Given the description of an element on the screen output the (x, y) to click on. 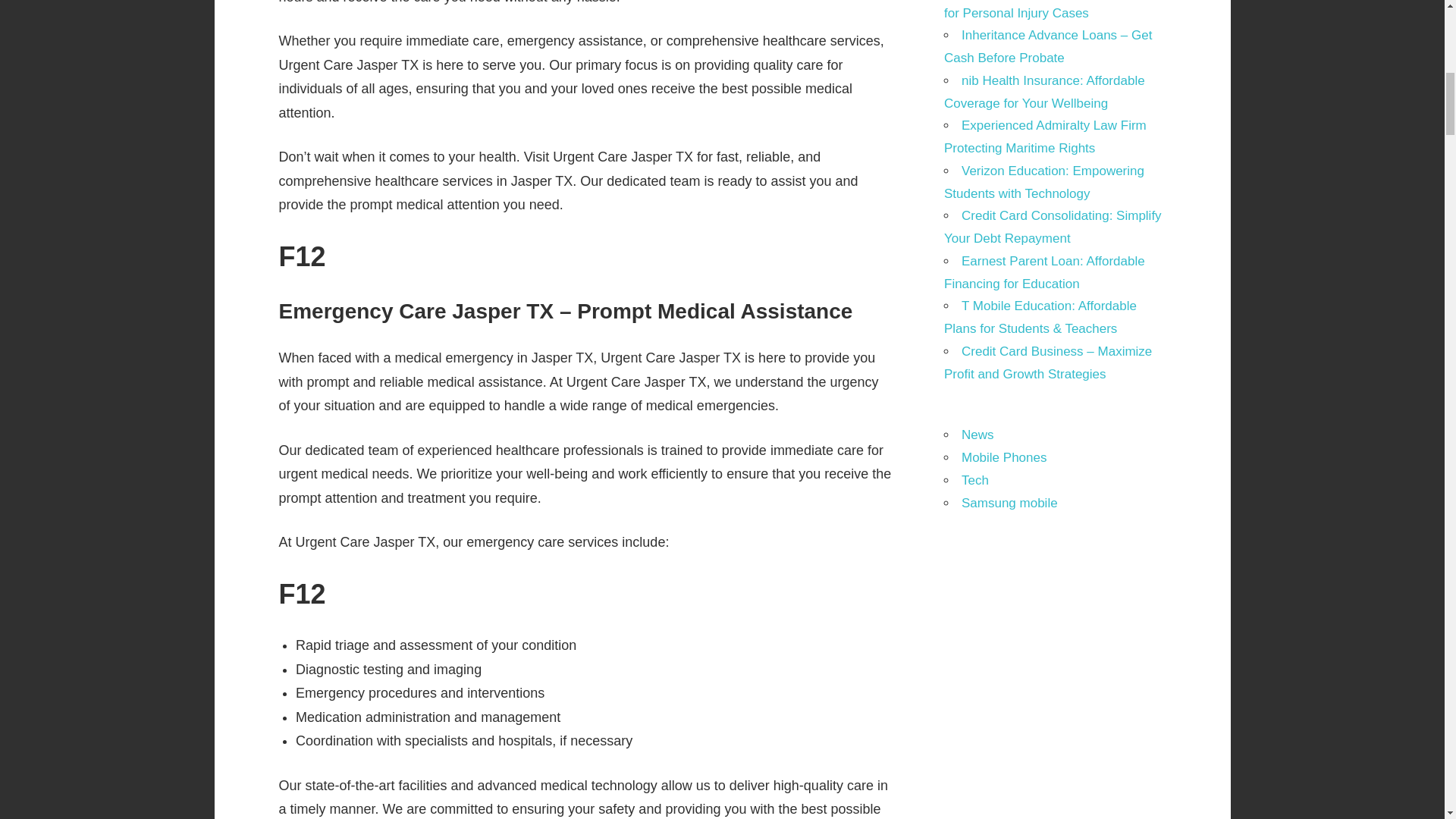
Credit Card Consolidating: Simplify Your Debt Repayment (1052, 226)
nib Health Insurance: Affordable Coverage for Your Wellbeing (1043, 91)
Experienced Admiralty Law Firm Protecting Maritime Rights (1045, 136)
Mobile Phones (1003, 457)
Verizon Education: Empowering Students with Technology (1043, 181)
News (977, 434)
Samsung mobile (1009, 503)
Experienced Accident Law Lawyer for Personal Injury Cases (1050, 10)
Earnest Parent Loan: Affordable Financing for Education (1043, 272)
Tech (974, 480)
